Given the description of an element on the screen output the (x, y) to click on. 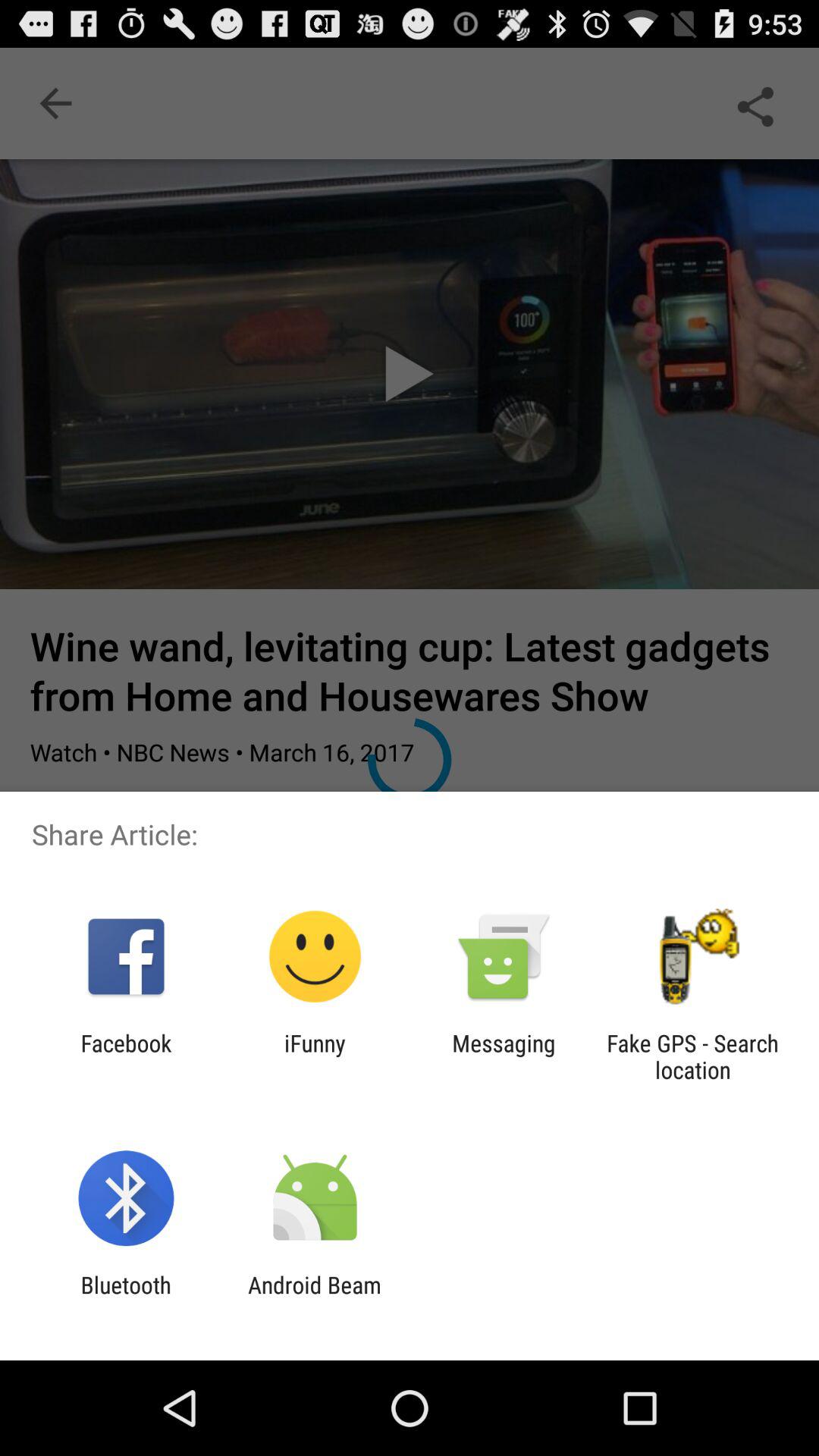
flip to the fake gps search (692, 1056)
